Given the description of an element on the screen output the (x, y) to click on. 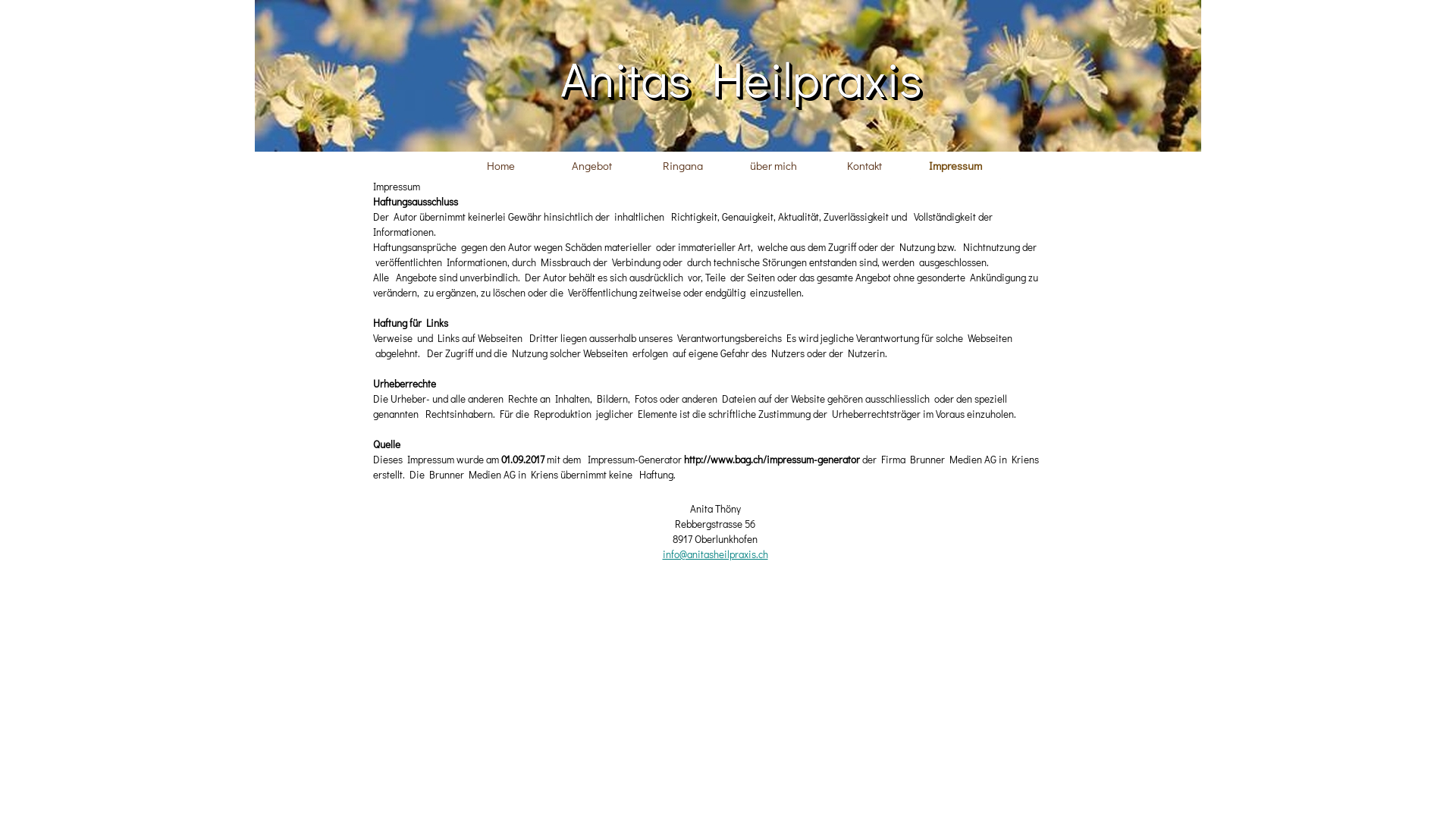
Home Element type: text (500, 164)
Impressum Element type: text (955, 164)
Ringana Element type: text (682, 164)
Kontakt Element type: text (864, 164)
info@anitasheilpraxis.ch Element type: text (715, 554)
Angebot Element type: text (591, 164)
